Given the description of an element on the screen output the (x, y) to click on. 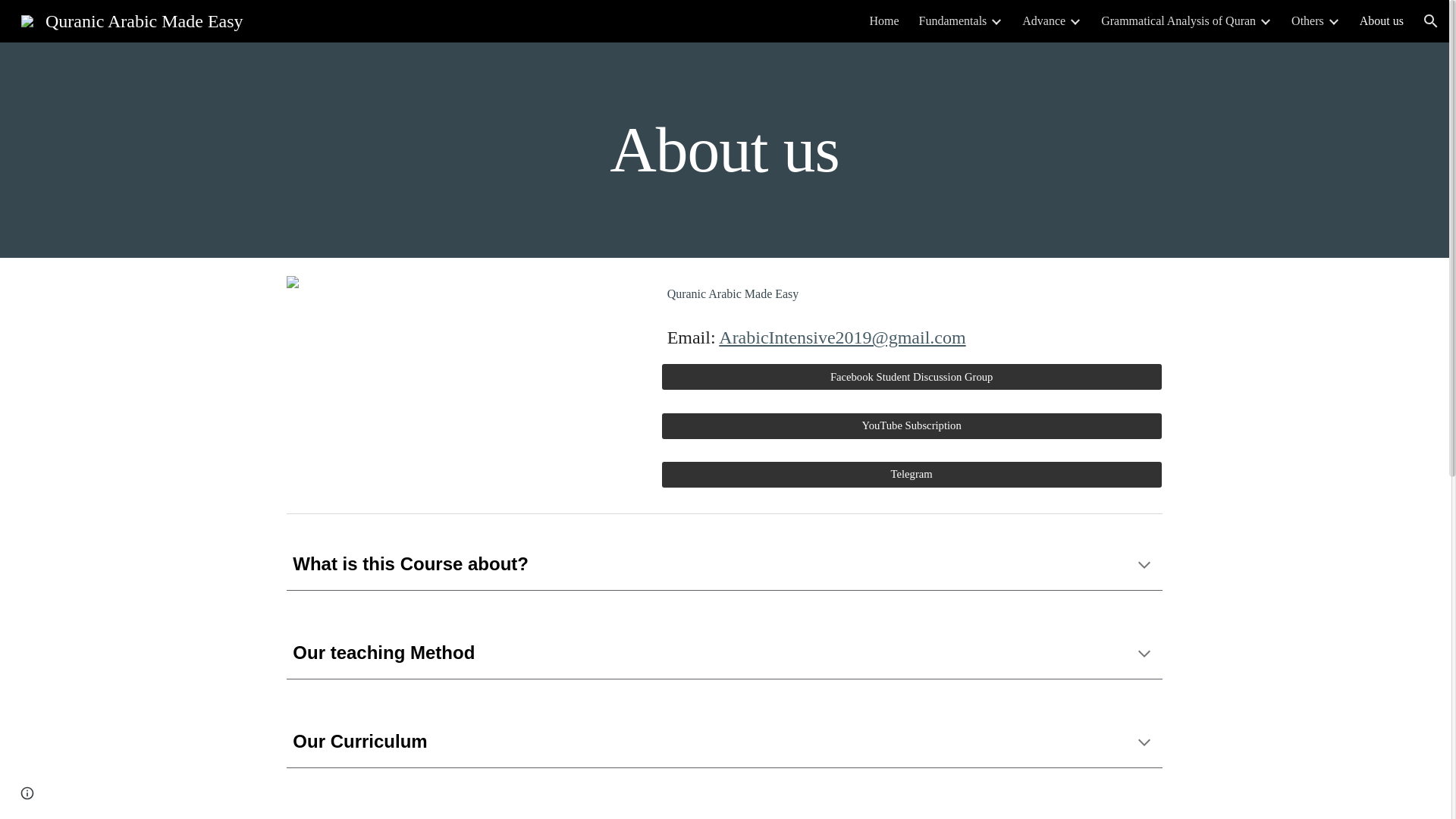
Fundamentals (952, 20)
Home (883, 20)
Advance (1043, 20)
Quranic Arabic Made Easy (131, 19)
Grammatical Analysis of Quran (1177, 20)
Others (1307, 20)
